Given the description of an element on the screen output the (x, y) to click on. 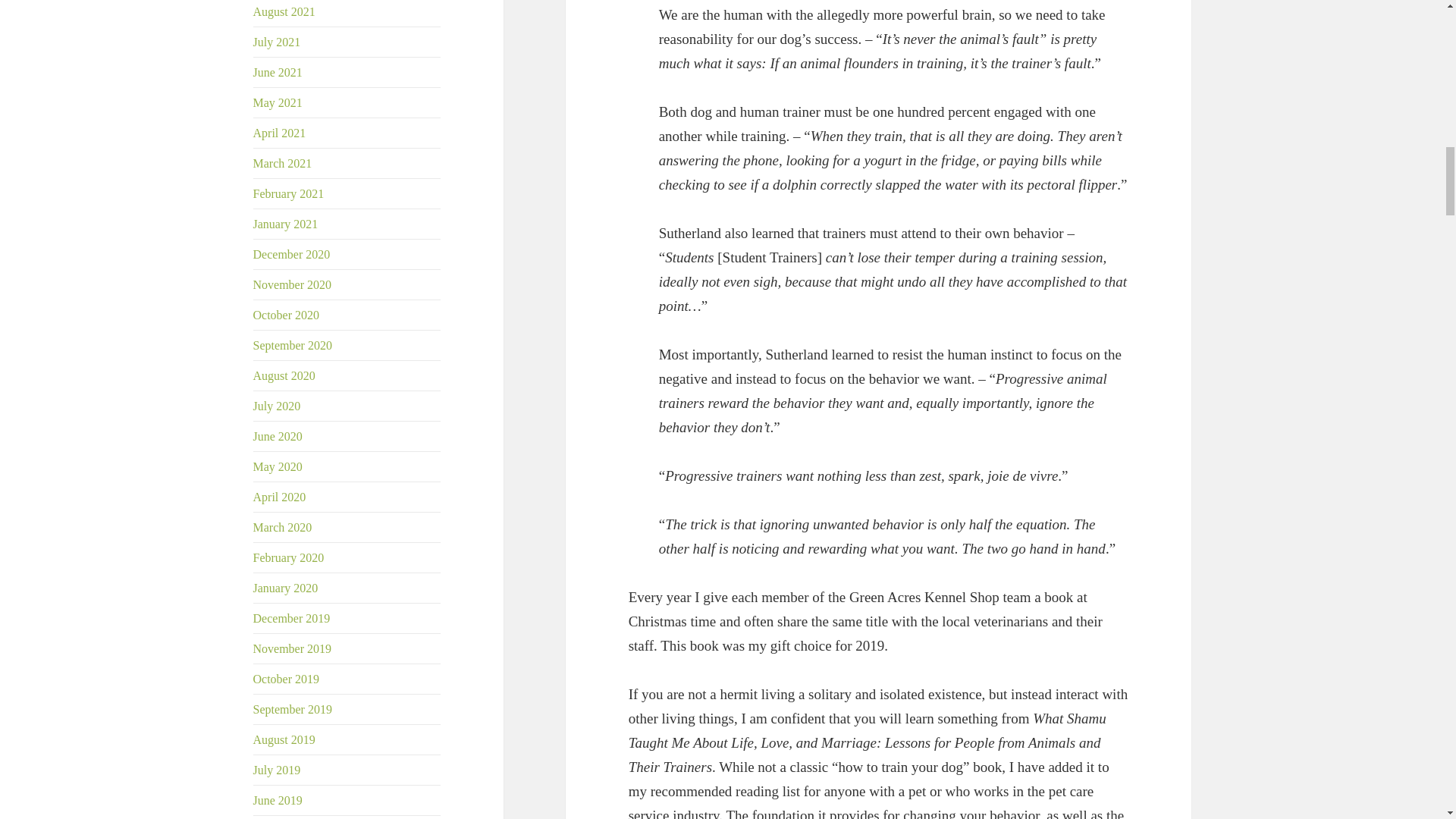
May 2021 (277, 102)
October 2020 (286, 314)
June 2021 (277, 72)
April 2021 (279, 132)
August 2021 (284, 11)
February 2021 (288, 193)
January 2021 (285, 223)
December 2020 (291, 254)
July 2021 (277, 42)
November 2020 (292, 284)
